Given the description of an element on the screen output the (x, y) to click on. 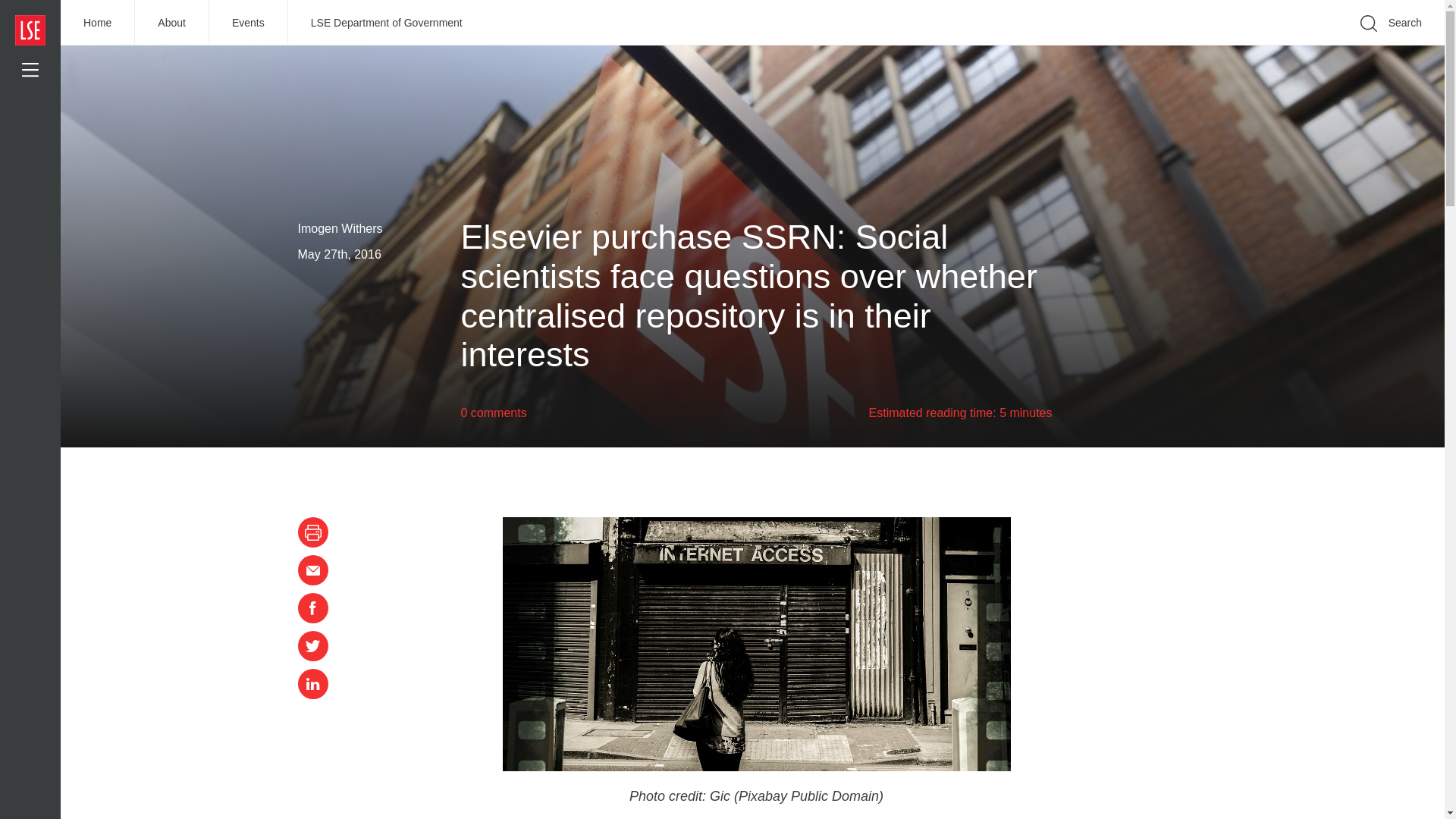
Home (98, 22)
Go (1190, 44)
Events (248, 22)
About (172, 22)
0 comments (494, 412)
LSE Department of Government (386, 22)
